Given the description of an element on the screen output the (x, y) to click on. 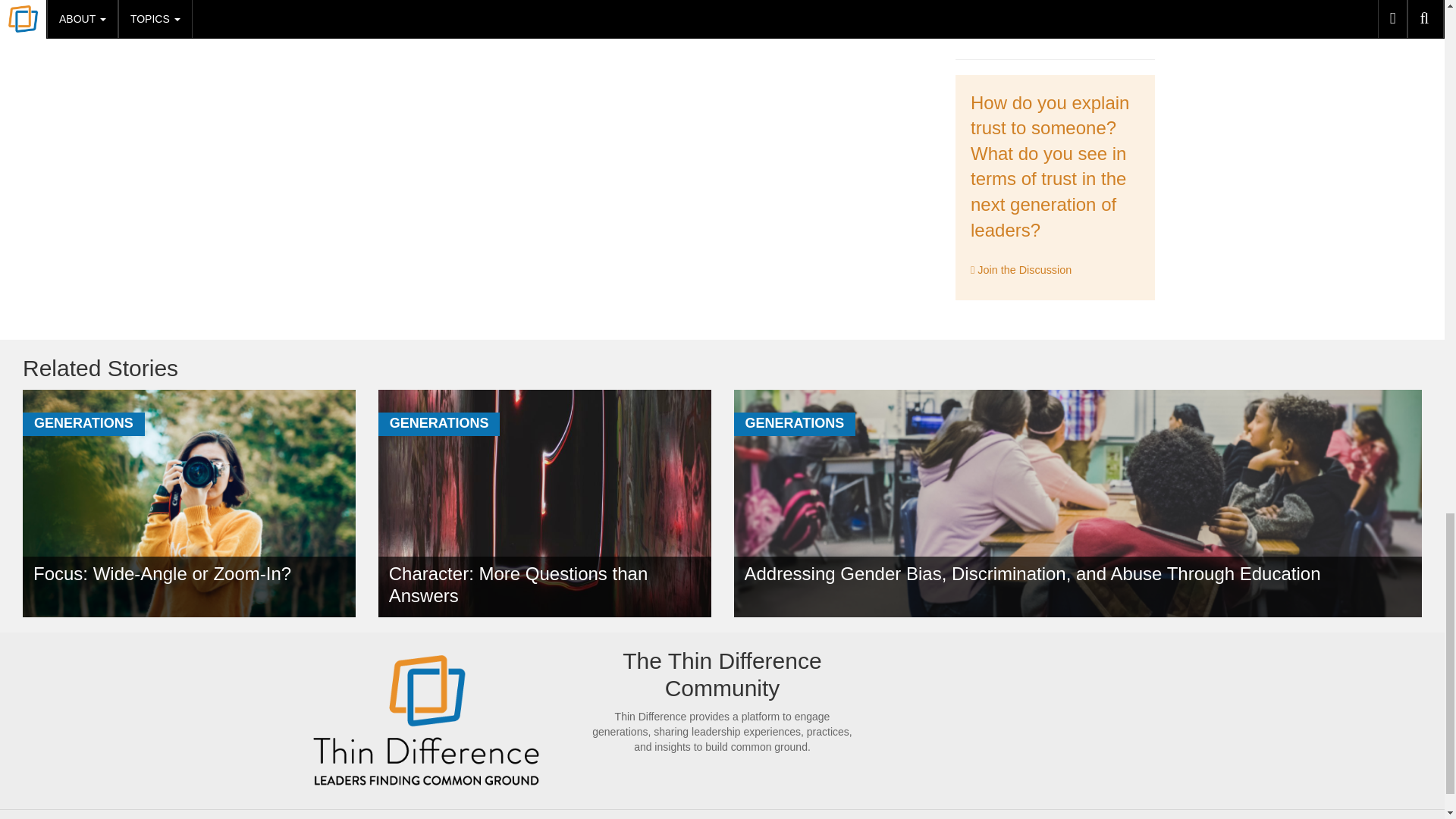
Post link (339, 3)
